Given the description of an element on the screen output the (x, y) to click on. 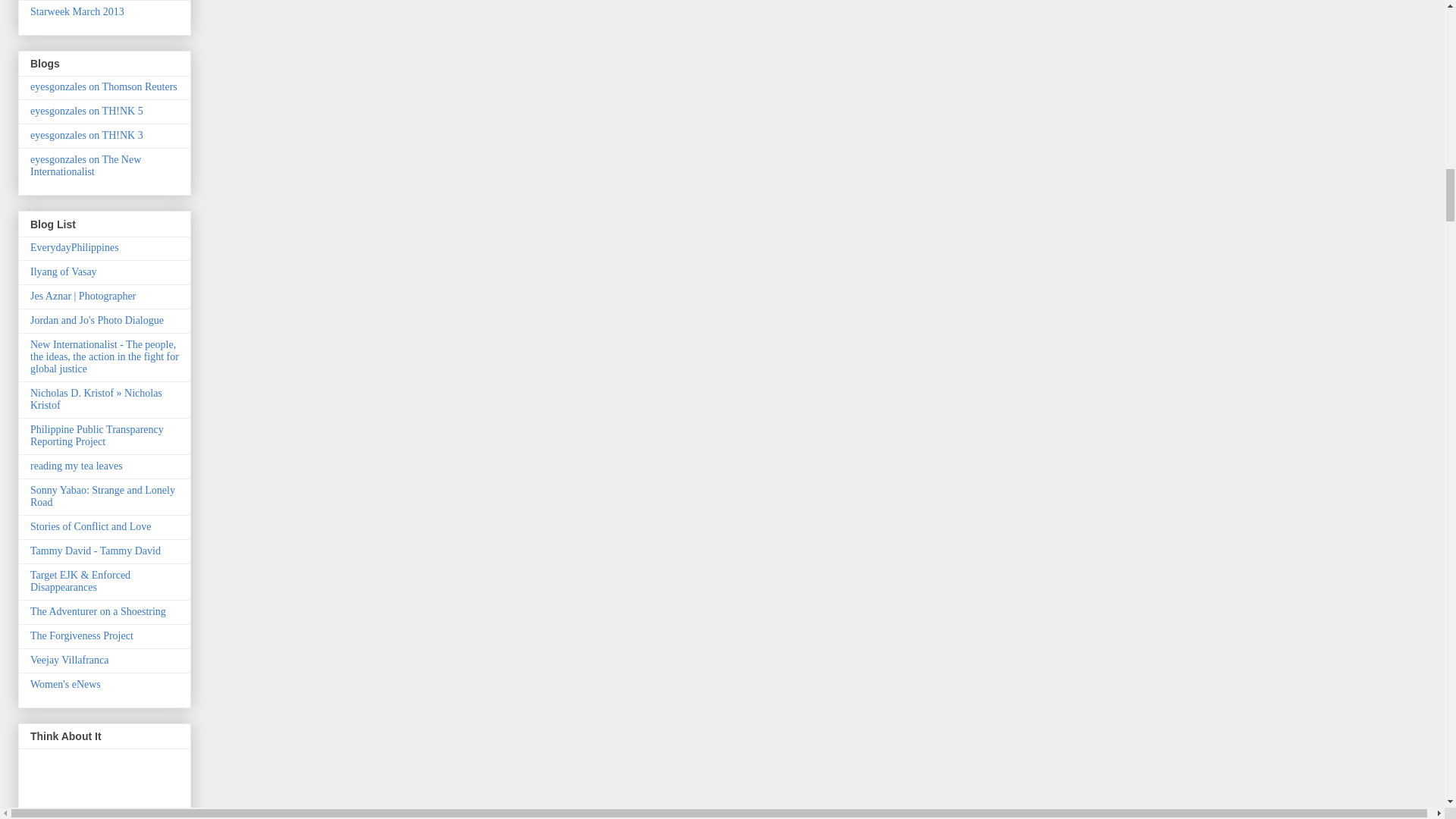
eyesgonzales on TH!NK 5 (86, 111)
Tammy David - Tammy David (95, 550)
eyesgonzales on Thomson Reuters (103, 86)
eyesgonzales on The New Internationalist (85, 165)
Sonny Yabao: Strange and Lonely Road (102, 495)
Ilyang of Vasay (63, 271)
EverydayPhilippines (74, 247)
eyesgonzales on TH!NK 3 (86, 134)
Jordan and Jo's Photo Dialogue (96, 319)
reading my tea leaves (76, 465)
Starweek March 2013 (76, 11)
Stories of Conflict and Love (90, 526)
Philippine Public Transparency Reporting Project (96, 435)
